Given the description of an element on the screen output the (x, y) to click on. 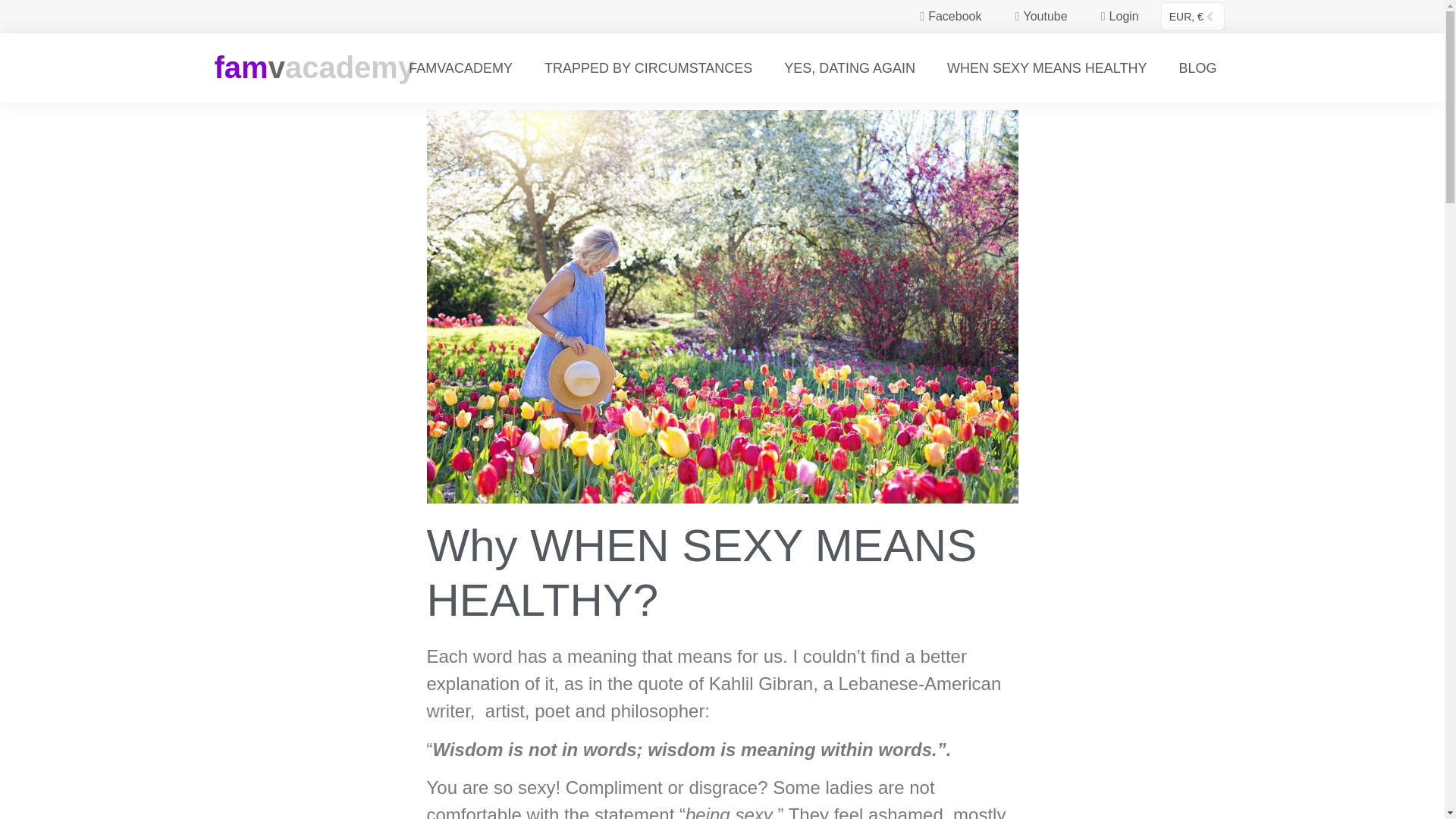
Youtube (1035, 16)
Login (1114, 16)
Facebook (944, 16)
YES, DATING AGAIN (849, 68)
famvacademy (314, 67)
BLOG (1197, 68)
WHEN SEXY MEANS HEALTHY (1046, 68)
TRAPPED BY CIRCUMSTANCES (648, 68)
FAMVACADEMY (459, 68)
